Given the description of an element on the screen output the (x, y) to click on. 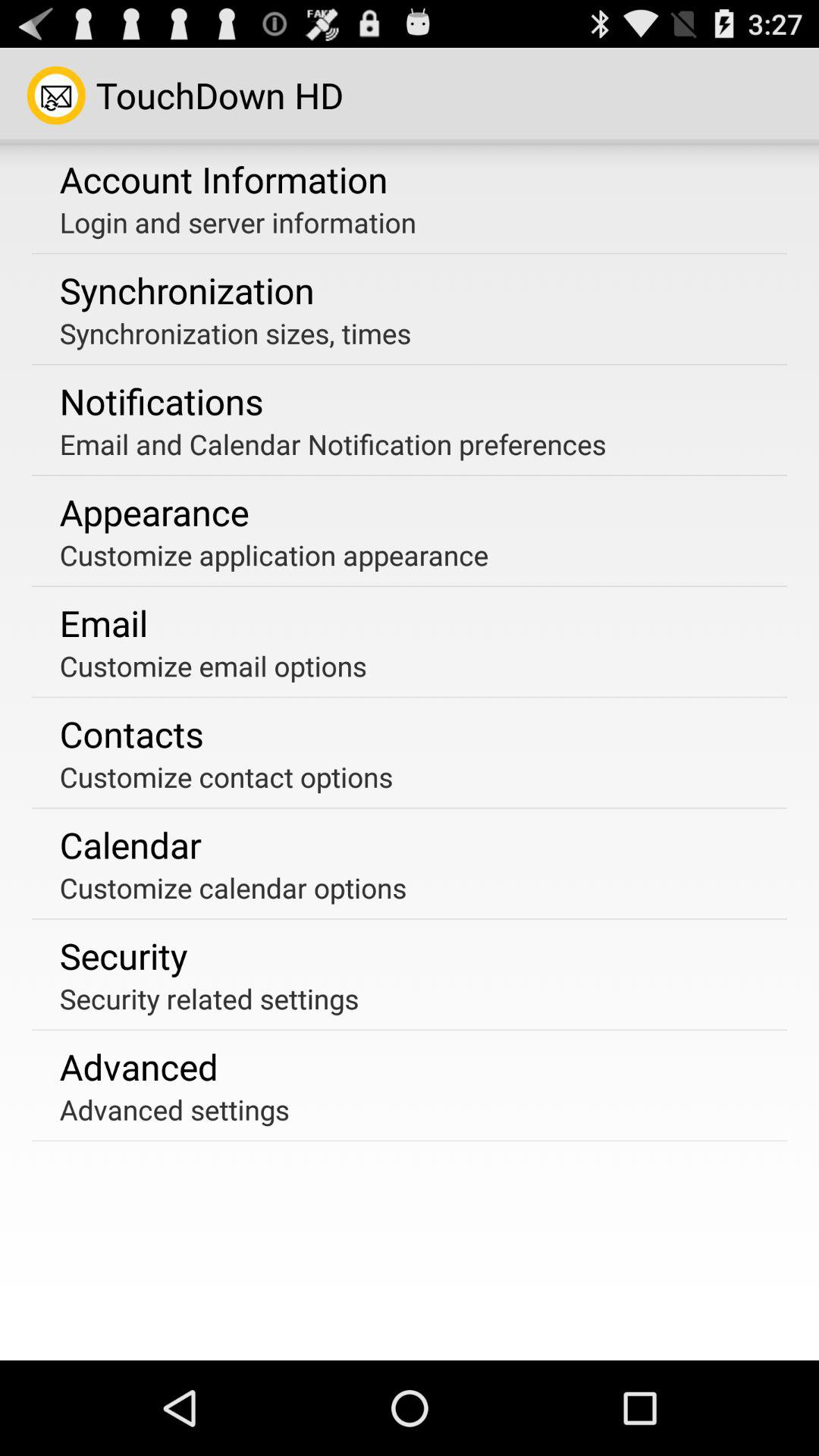
flip to the advanced settings item (174, 1109)
